Given the description of an element on the screen output the (x, y) to click on. 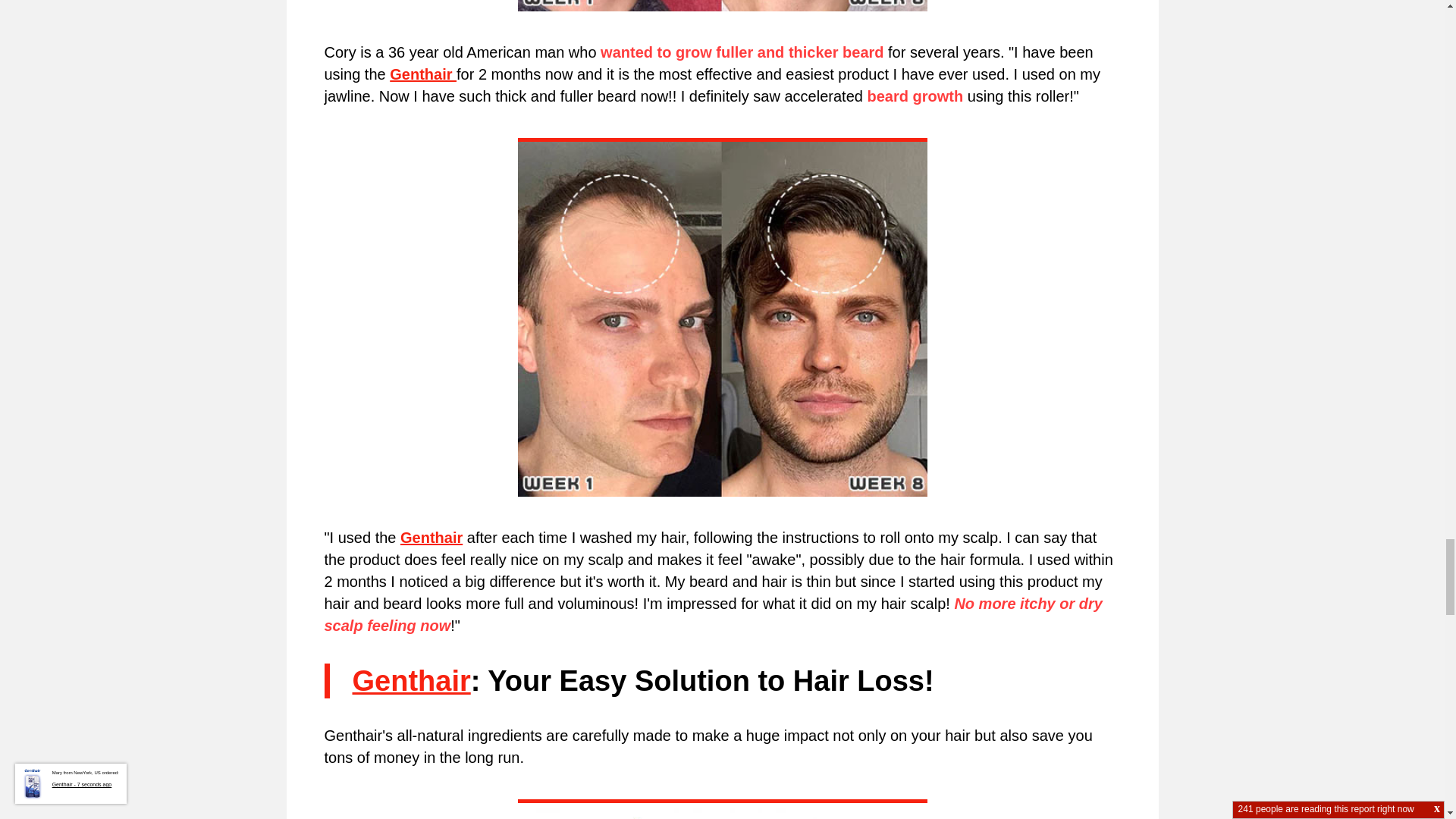
Genthair (411, 680)
Genthair (431, 537)
Genthair (423, 74)
